Given the description of an element on the screen output the (x, y) to click on. 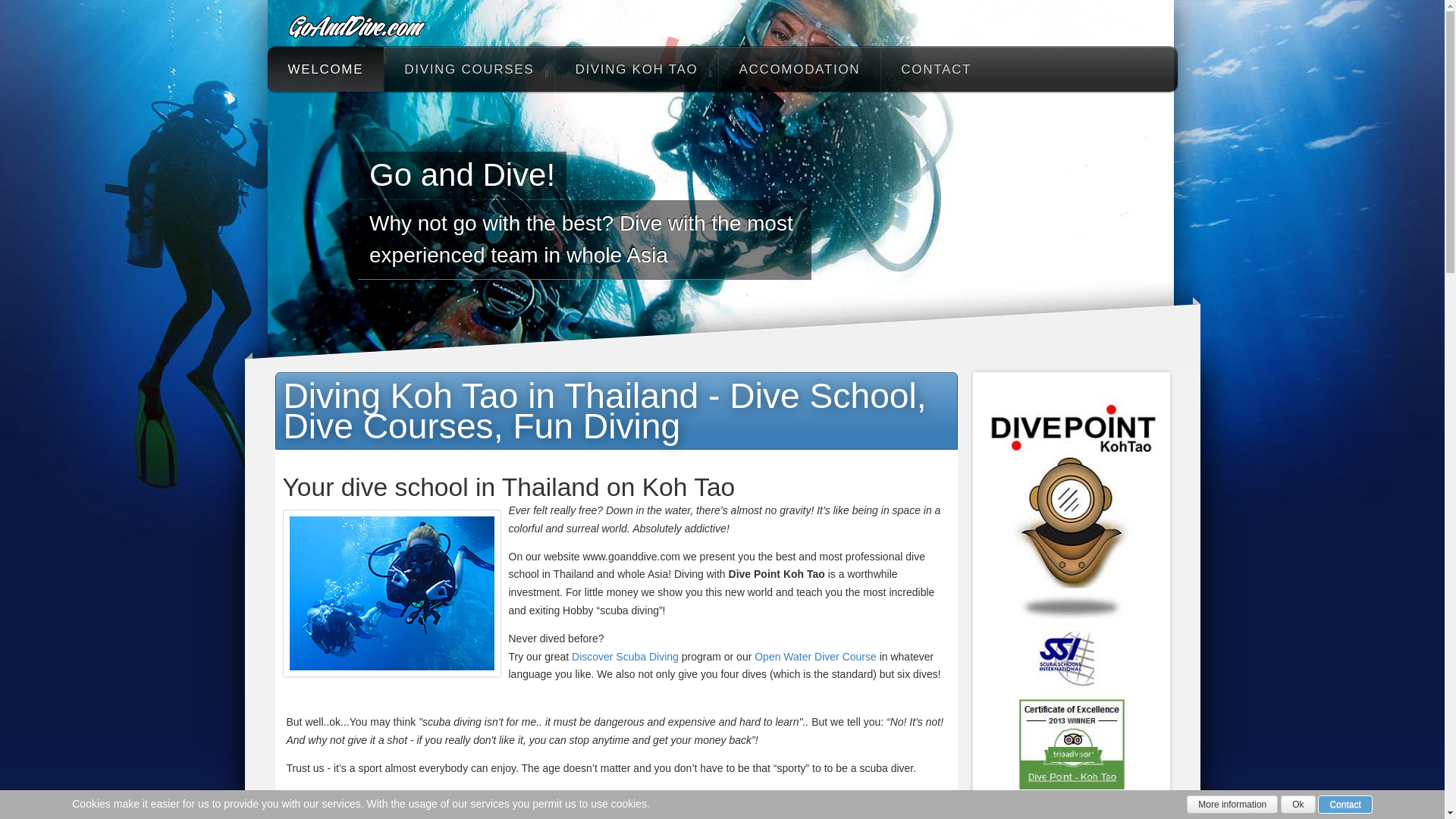
Open Water Diver Course (815, 656)
ACCOMODATION (798, 68)
'Dive Point on Koh Tao in Thailand' - SSI courses (1071, 598)
DIVING COURSES (469, 68)
DIVING KOH TAO (635, 68)
Discover Scuba Diving (625, 656)
CONTACT (935, 68)
More information (1232, 804)
WELCOME (325, 68)
